Given the description of an element on the screen output the (x, y) to click on. 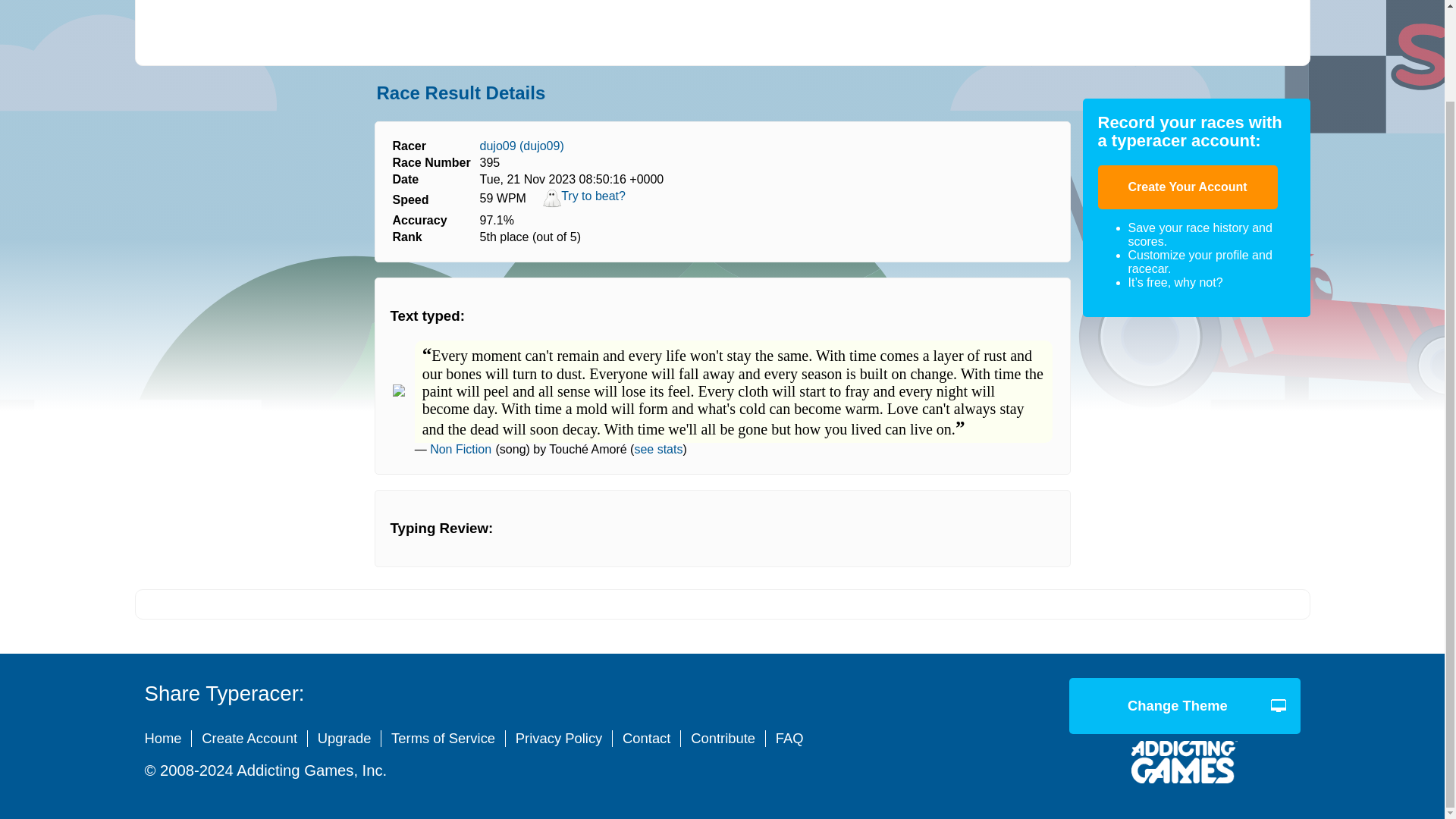
Create Your Account (1187, 187)
Home (168, 738)
Create Account (249, 738)
Try to beat? (584, 203)
View dujo09's profile (522, 145)
You can try to beat this score in ghost racing mode. (584, 203)
Non Fiction (460, 449)
see stats (657, 449)
